Given the description of an element on the screen output the (x, y) to click on. 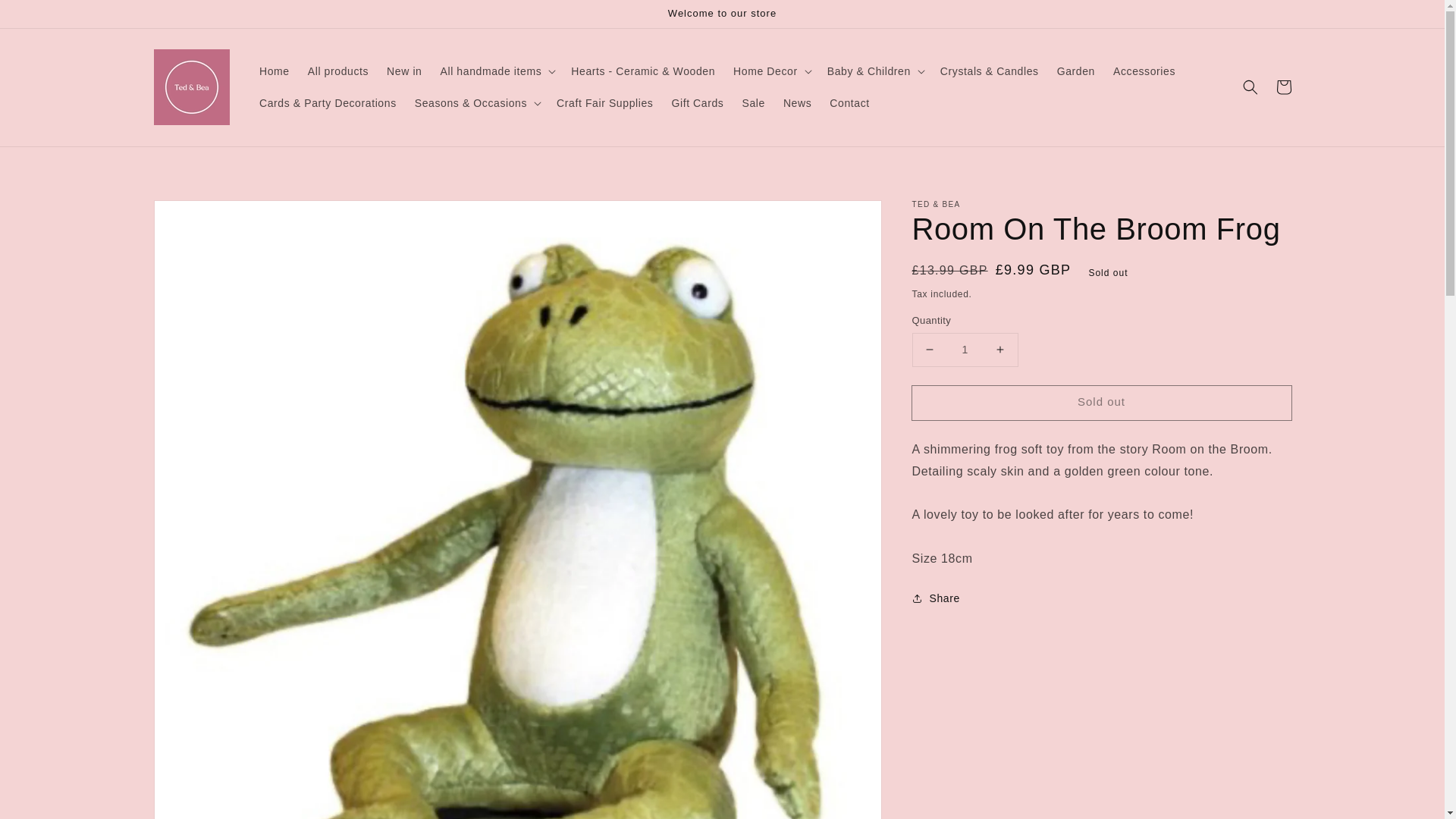
1 (964, 349)
Skip to content (45, 16)
